Given the description of an element on the screen output the (x, y) to click on. 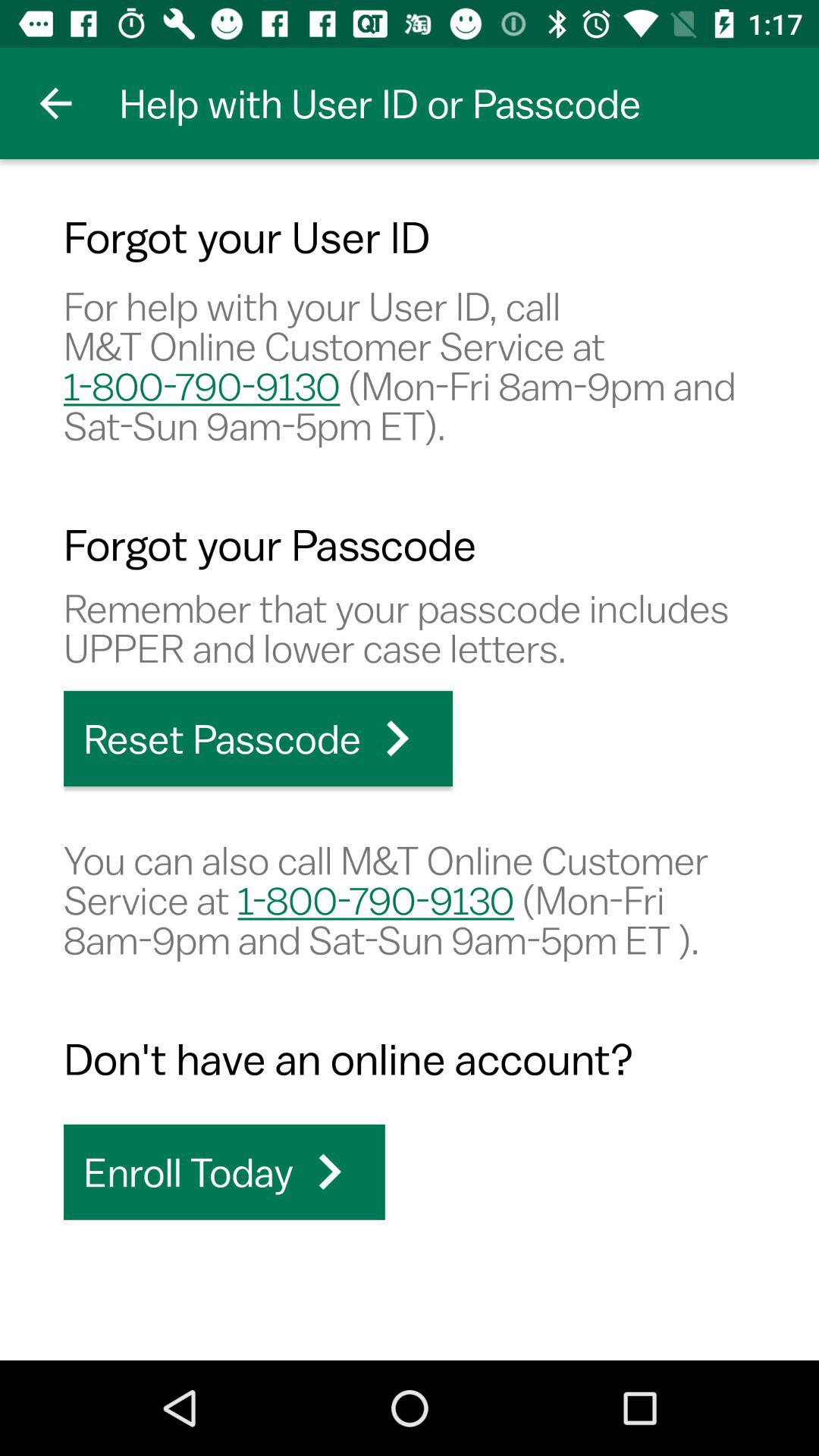
select the enroll today icon (224, 1171)
